Given the description of an element on the screen output the (x, y) to click on. 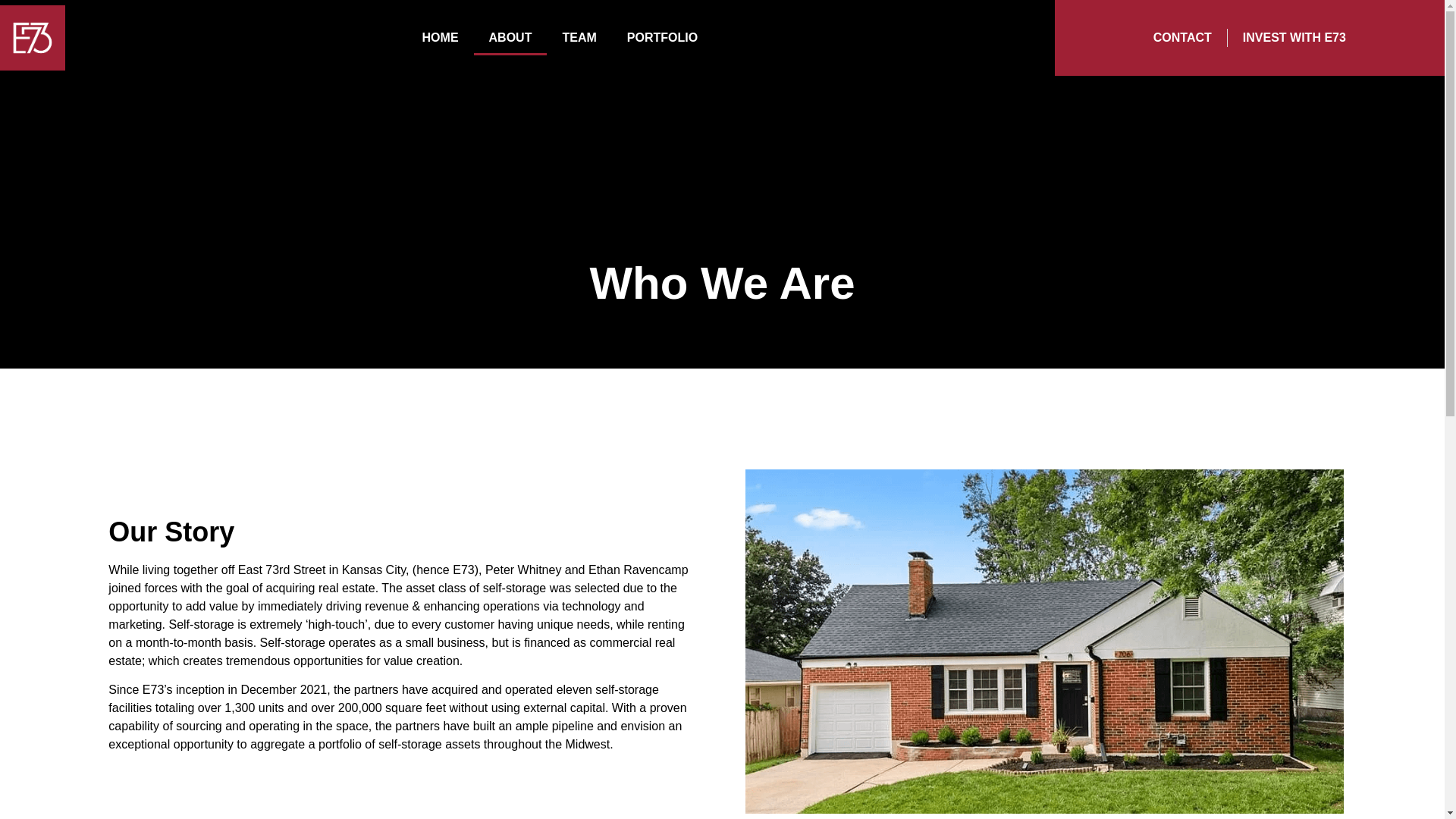
PORTFOLIO (662, 37)
HOME (440, 37)
CONTACT (1182, 37)
TEAM (579, 37)
INVEST WITH E73 (1294, 37)
ABOUT (510, 37)
